Given the description of an element on the screen output the (x, y) to click on. 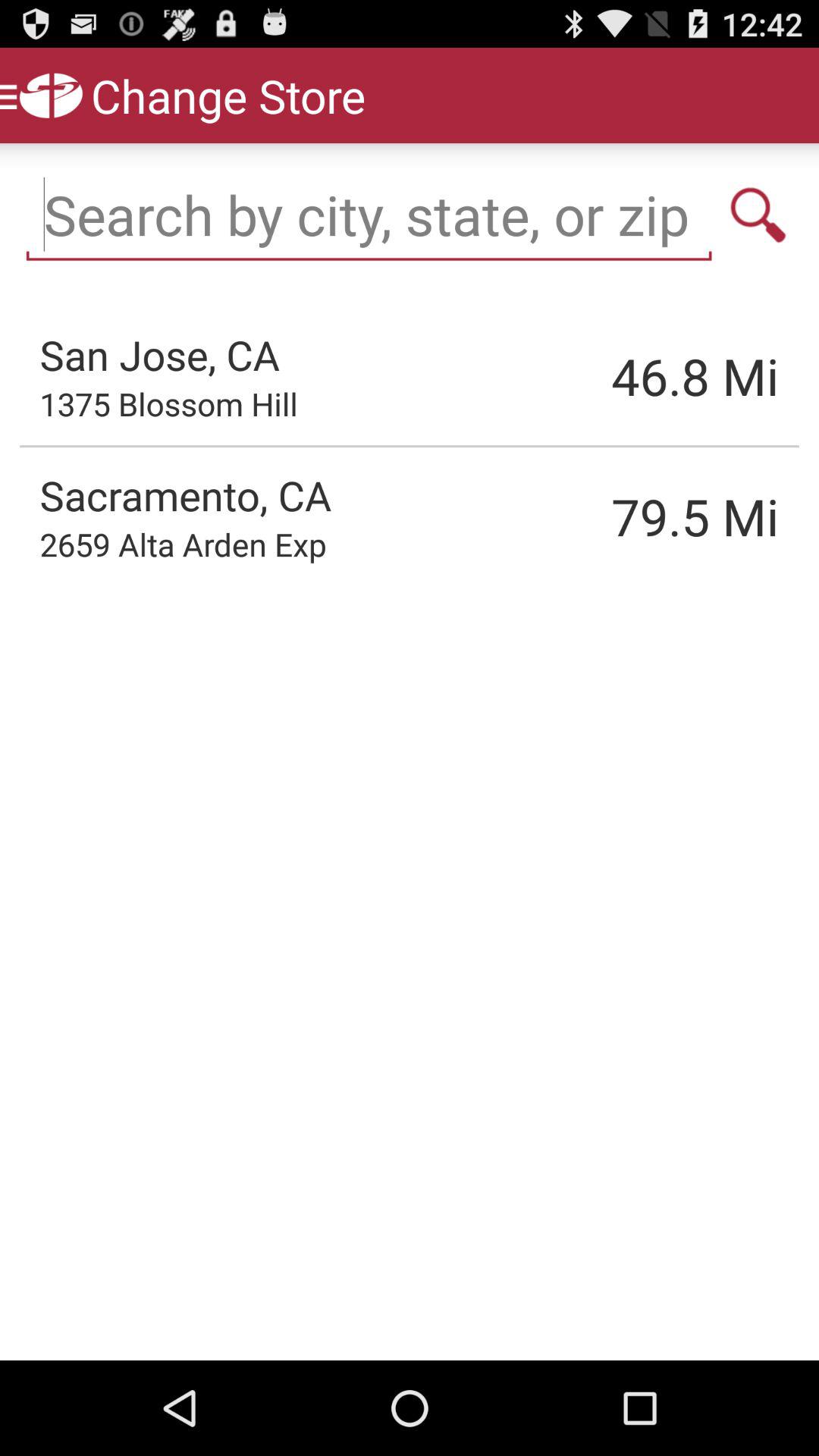
search entry (758, 215)
